Given the description of an element on the screen output the (x, y) to click on. 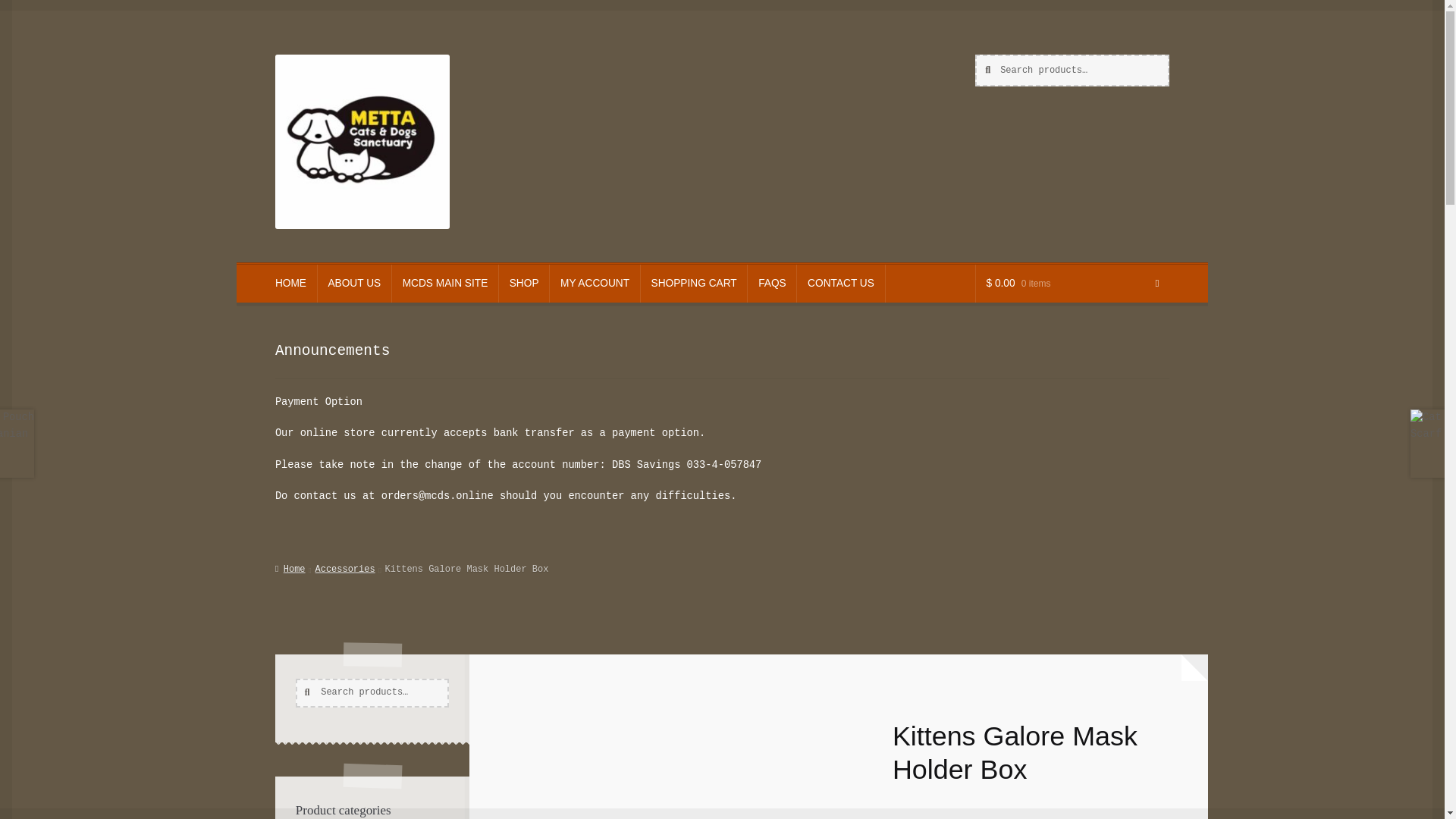
Accessories (345, 569)
Home (290, 569)
View your shopping cart (1072, 283)
CONTACT US (839, 283)
HOME (290, 283)
MCDS MAIN SITE (444, 283)
FAQS (772, 283)
MY ACCOUNT (595, 283)
SHOPPING CART (694, 283)
ABOUT US (354, 283)
SHOP (523, 283)
